Given the description of an element on the screen output the (x, y) to click on. 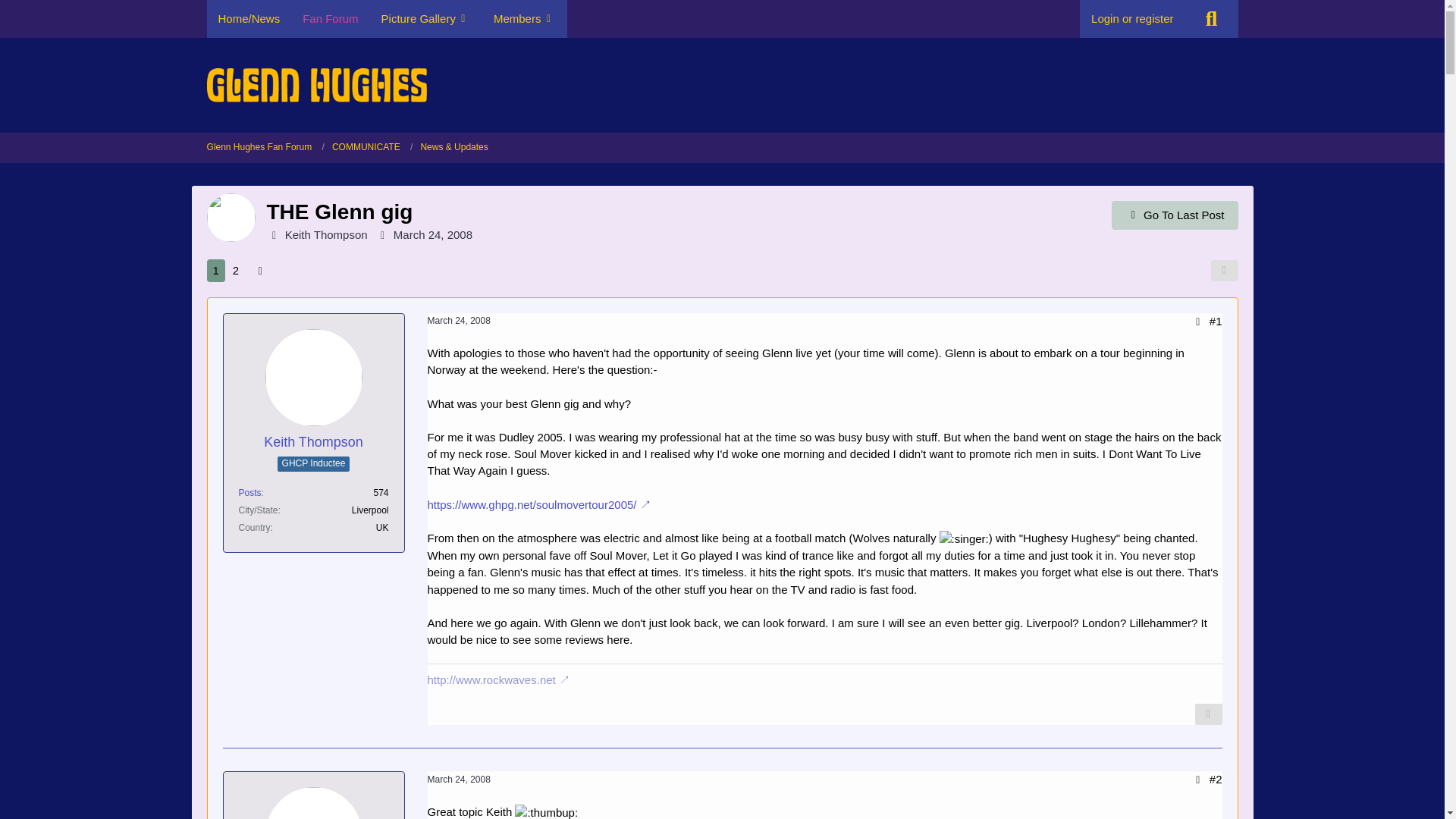
Fan Forum (330, 18)
Keith Thompson (312, 442)
Login or register (1132, 18)
Glenn Hughes Fan Forum (264, 147)
COMMUNICATE (371, 147)
March 24, 2008March 24, 2008 at 7:10 AM (459, 320)
March 24, 2008March 24, 2008 at 7:10 AM (432, 234)
thumbup (546, 811)
Keith Thompson (326, 234)
Posts (249, 492)
Glenn Hughes Fan Forum (258, 147)
Singer (963, 538)
COMMUNICATE (365, 147)
Jump to last post (1174, 215)
